Given the description of an element on the screen output the (x, y) to click on. 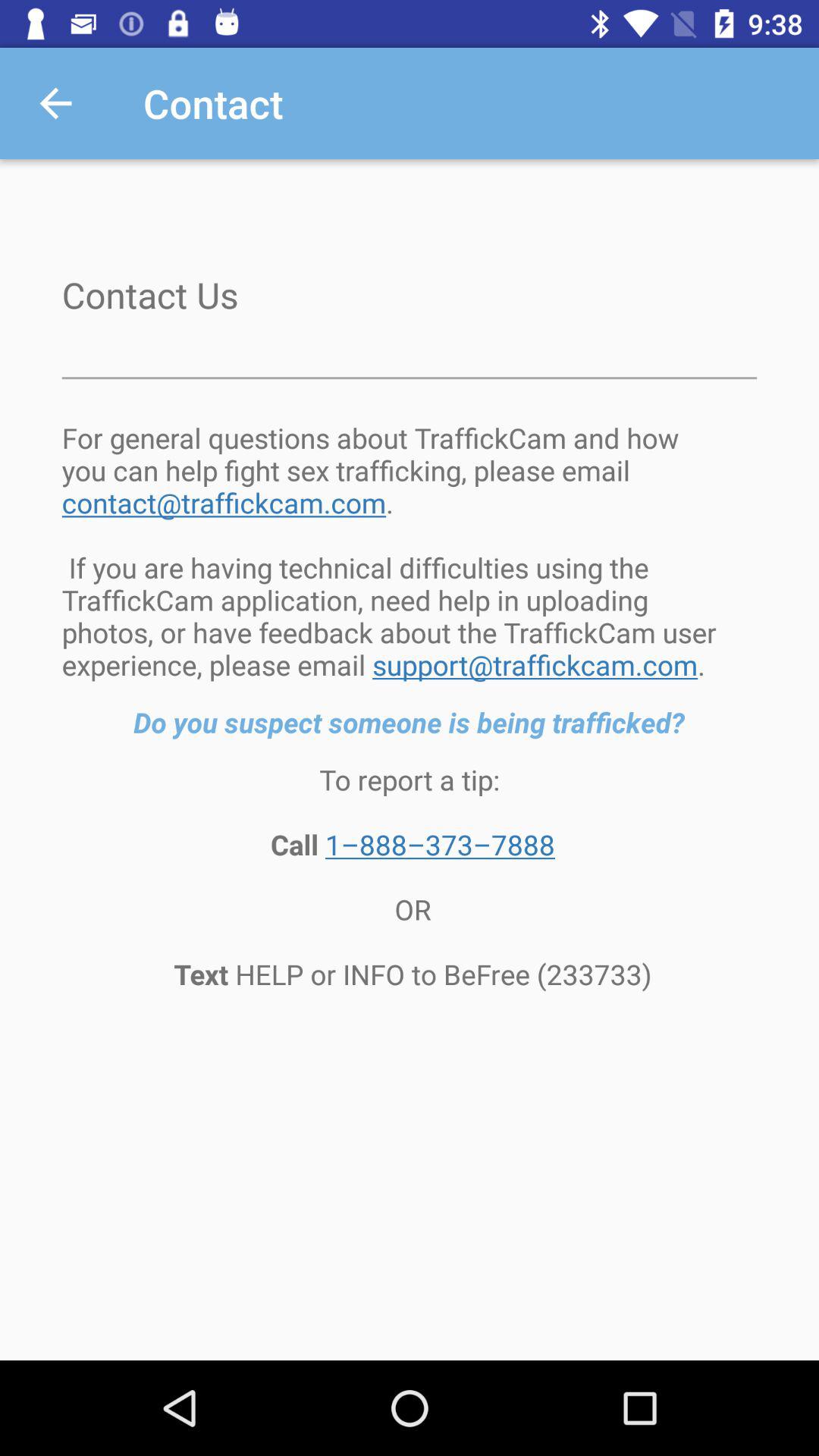
select the item above the do you suspect (409, 551)
